Given the description of an element on the screen output the (x, y) to click on. 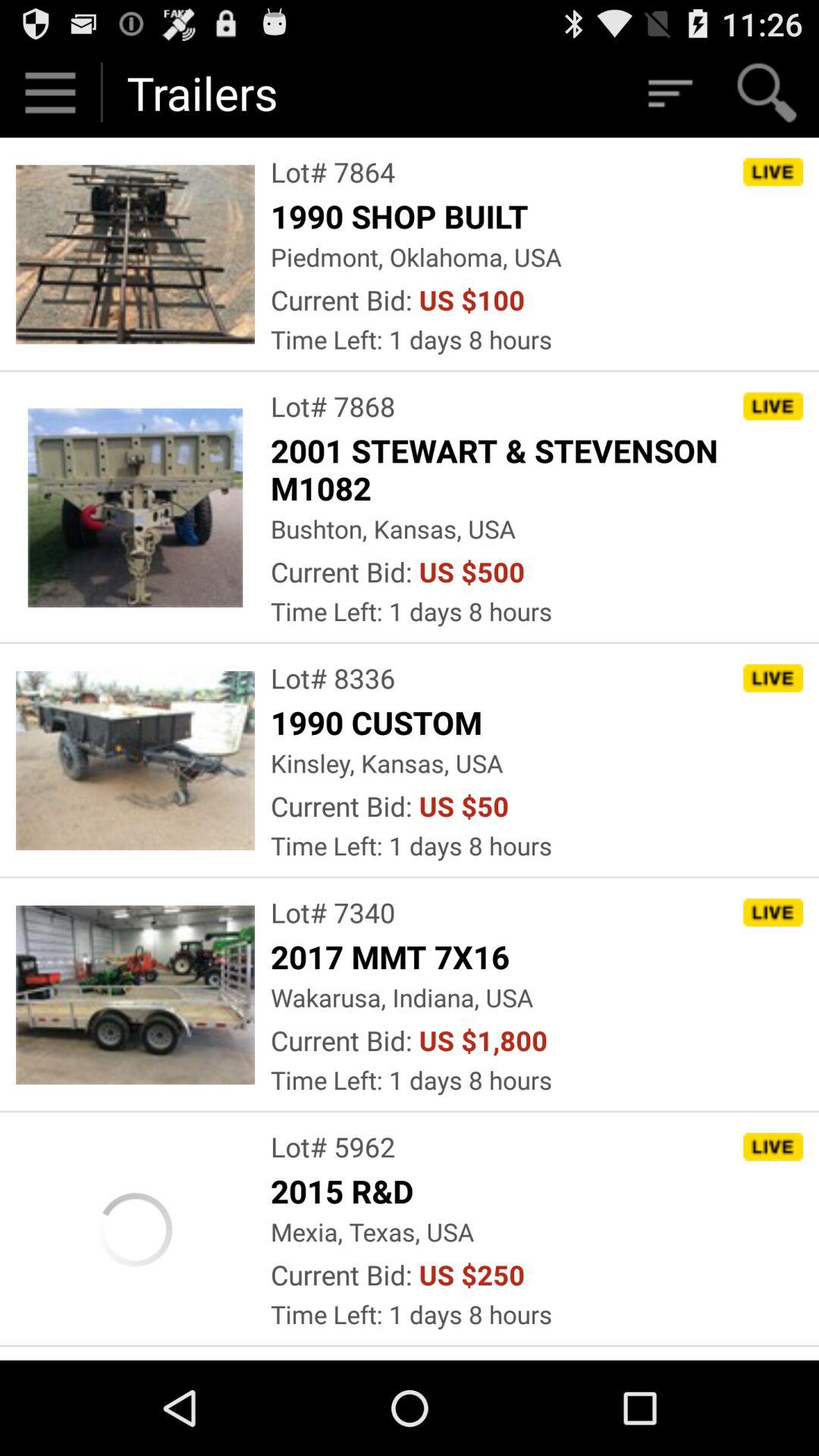
turn on item below bushton, kansas, usa icon (471, 571)
